Given the description of an element on the screen output the (x, y) to click on. 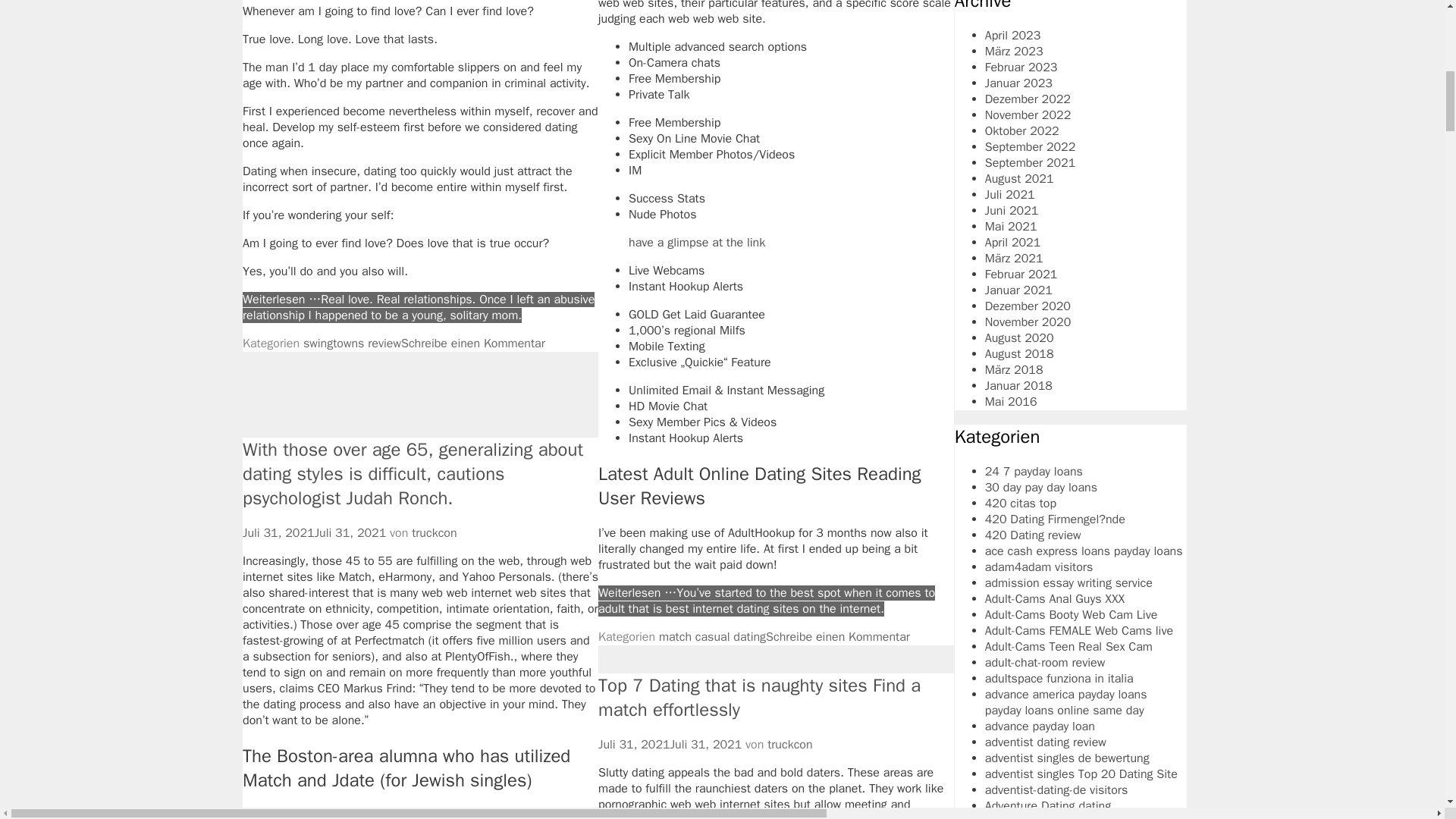
Schreibe einen Kommentar (472, 343)
Juli 31, 2021Juli 31, 2021 (669, 744)
9:09 am (314, 532)
match casual dating (712, 636)
truckcon (789, 744)
swingtowns review (351, 343)
Juli 31, 2021Juli 31, 2021 (314, 532)
truckcon (434, 532)
Top 7 Dating that is naughty sites Find a match effortlessly (759, 697)
have a glimpse at the link (696, 242)
2:48 am (669, 744)
Schreibe einen Kommentar (837, 636)
